Given the description of an element on the screen output the (x, y) to click on. 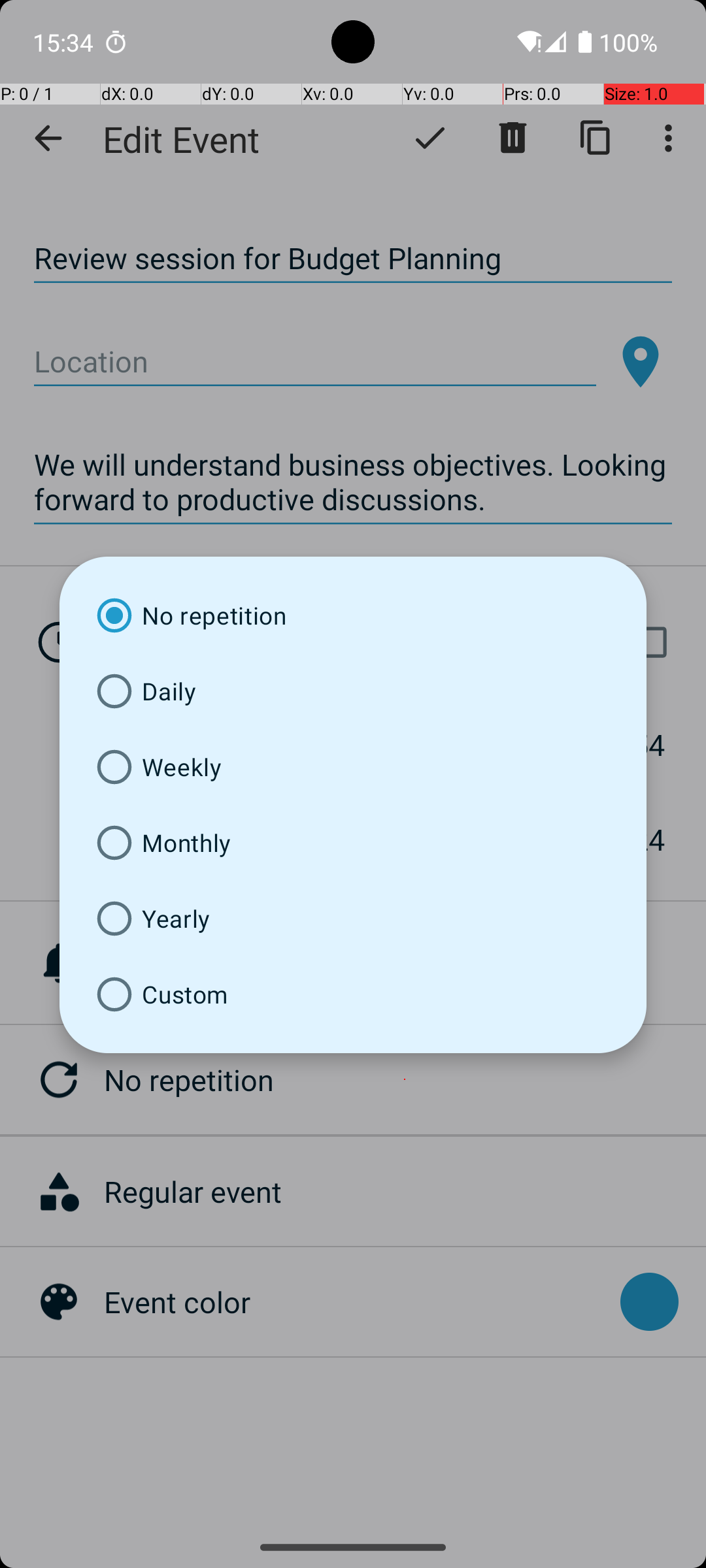
Weekly Element type: android.widget.RadioButton (352, 766)
Monthly Element type: android.widget.RadioButton (352, 842)
Yearly Element type: android.widget.RadioButton (352, 918)
